Given the description of an element on the screen output the (x, y) to click on. 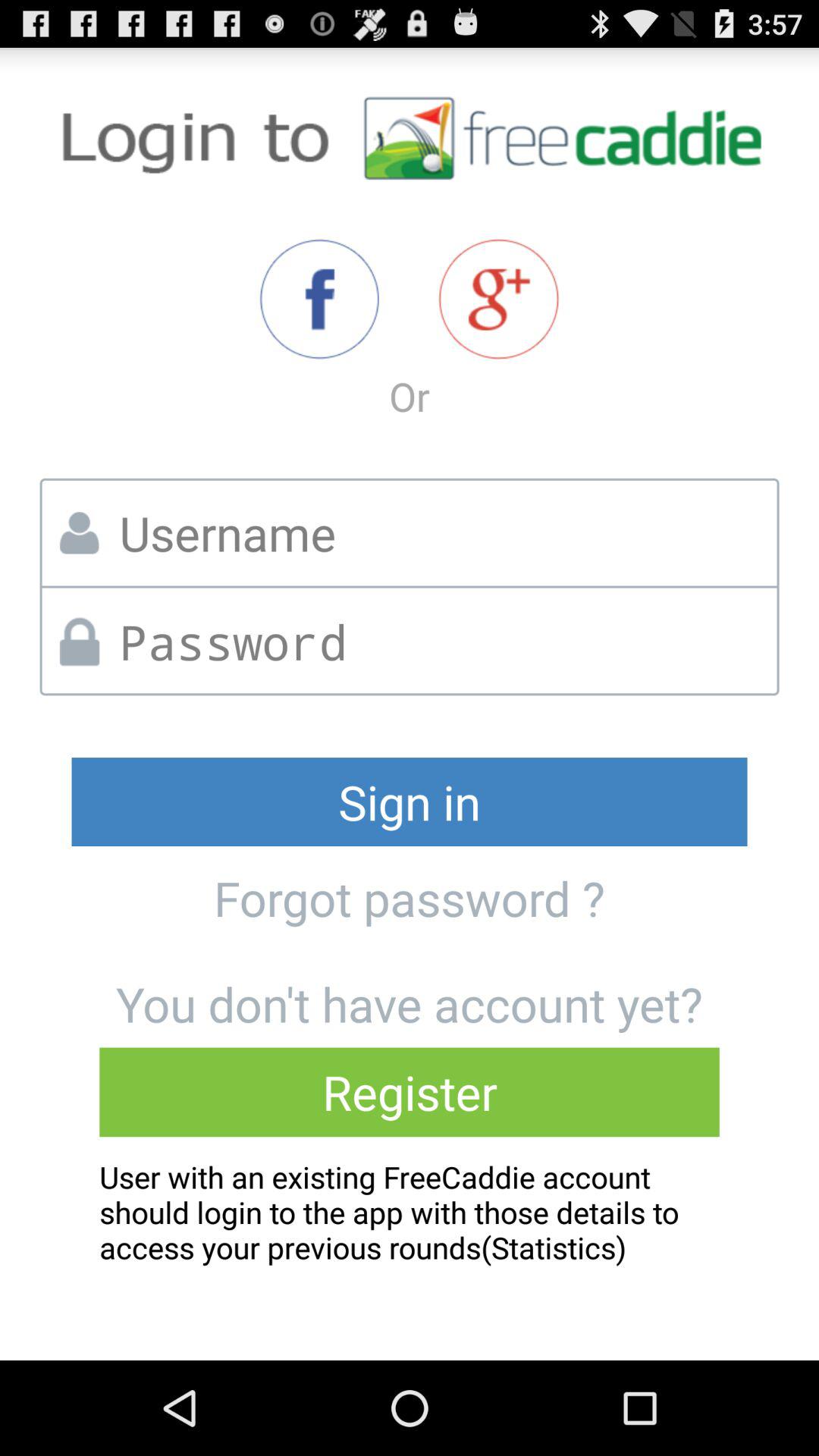
select the sign in icon (409, 801)
